Given the description of an element on the screen output the (x, y) to click on. 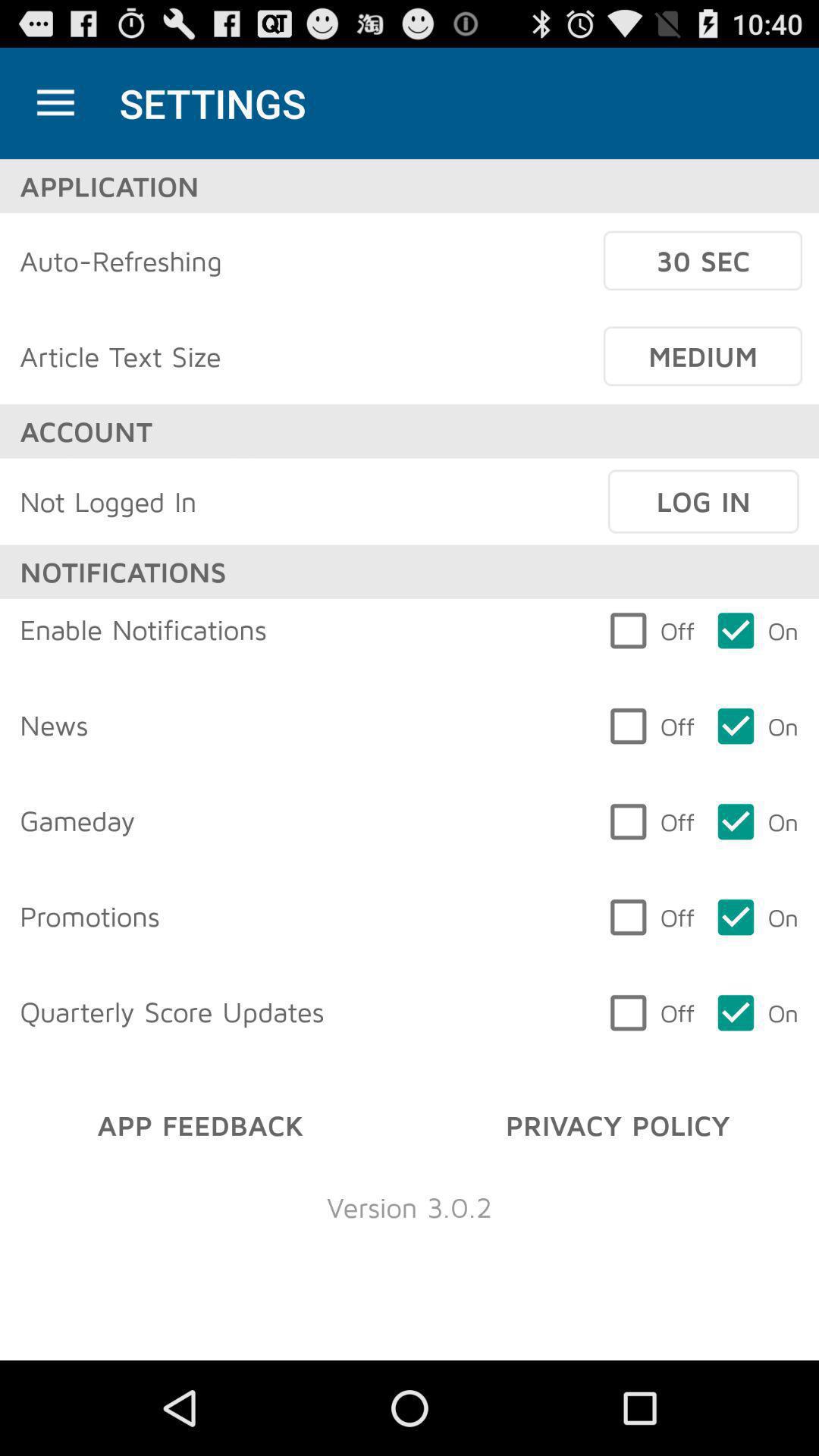
choose log in item (703, 501)
